Given the description of an element on the screen output the (x, y) to click on. 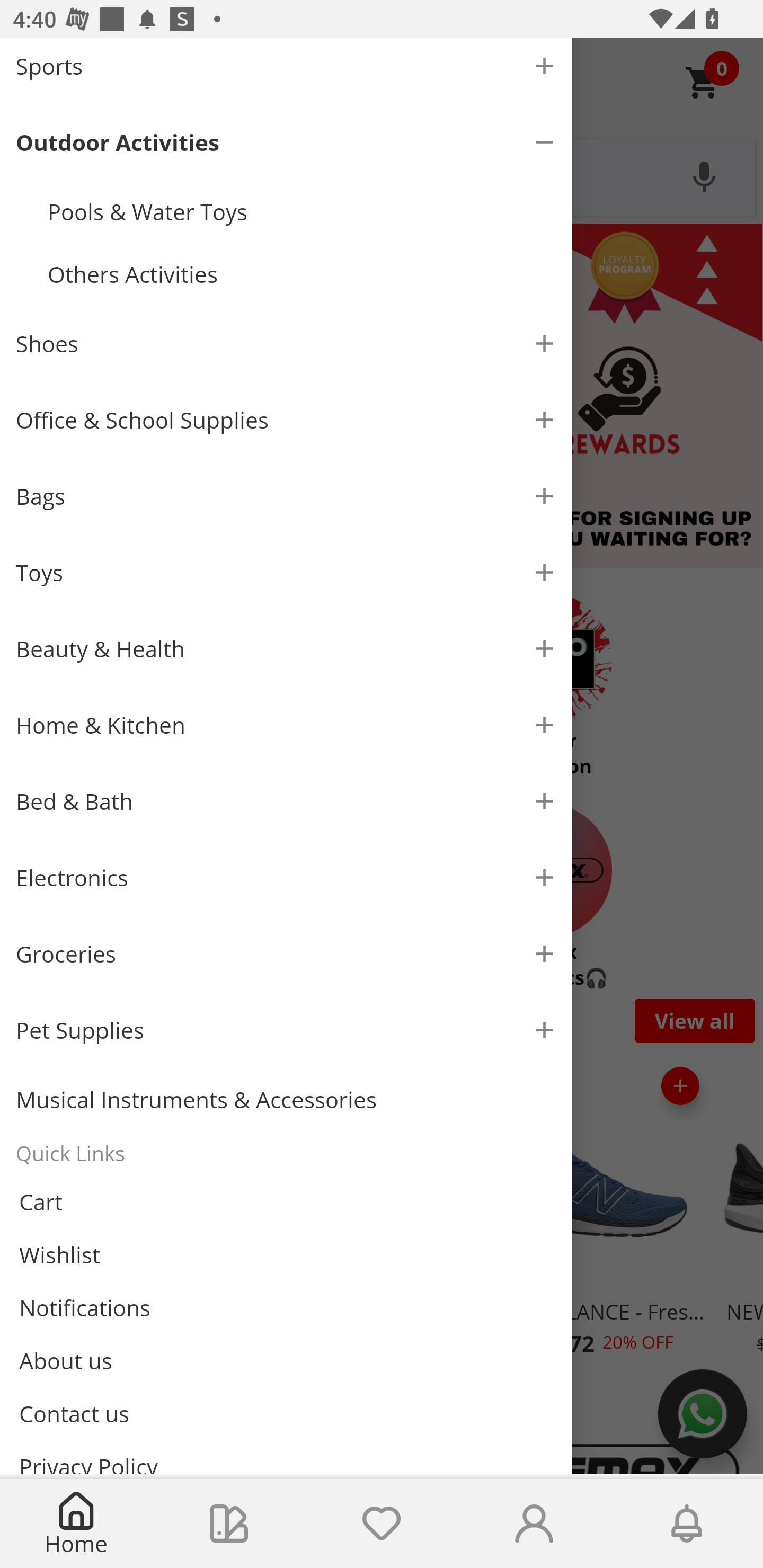
Sports (286, 71)
Pools & Water Toys (302, 211)
Others Activities (302, 274)
Shoes (286, 343)
Office & School Supplies (286, 419)
Bags (286, 495)
Toys (286, 572)
Beauty & Health (286, 648)
Home & Kitchen (286, 724)
Bed & Bath (286, 800)
Electronics (286, 876)
Groceries (286, 953)
Pet Supplies (286, 1029)
Musical Instruments & Accessories (286, 1098)
Cart (286, 1201)
Wishlist (286, 1254)
Notifications (286, 1307)
About us (286, 1360)
Contact us (286, 1413)
Privacy Policy (286, 1456)
Collections (228, 1523)
Wishlist (381, 1523)
Account (533, 1523)
Notifications (686, 1523)
